Given the description of an element on the screen output the (x, y) to click on. 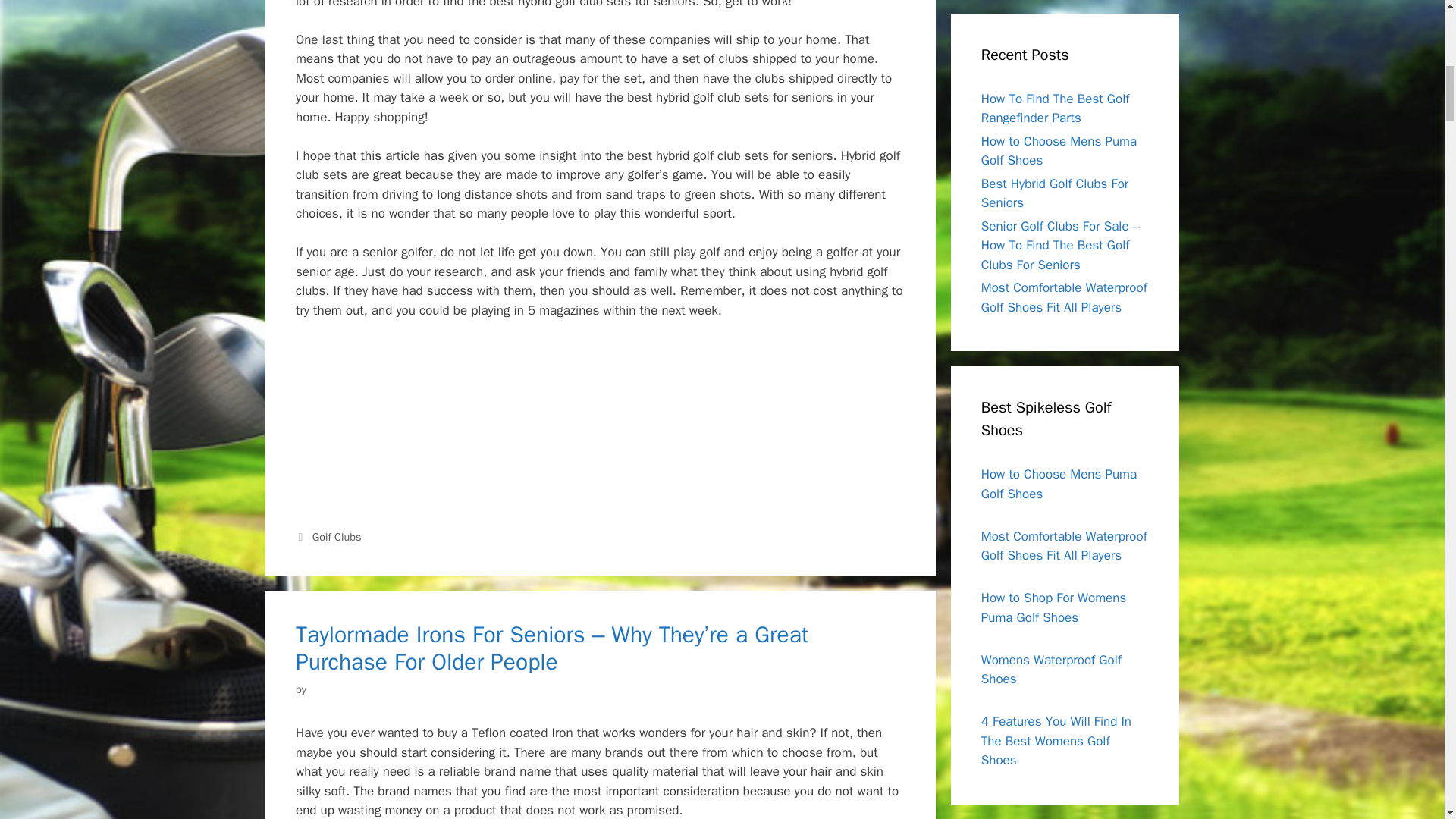
Golf Clubs (337, 536)
